Given the description of an element on the screen output the (x, y) to click on. 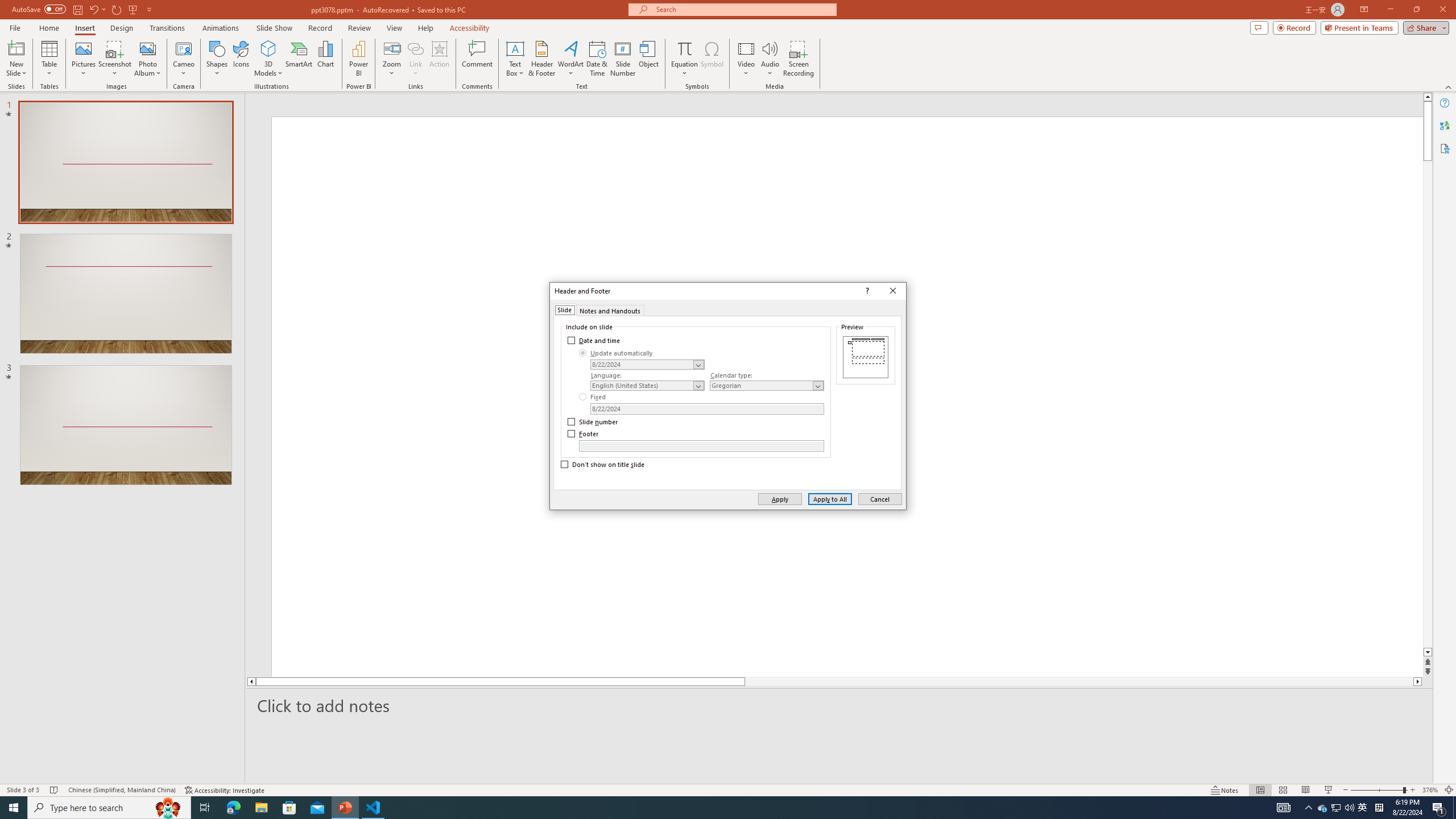
Apply (779, 498)
Fixed Date (706, 408)
Video (745, 58)
Screenshot (114, 58)
Date & Time... (596, 58)
